Given the description of an element on the screen output the (x, y) to click on. 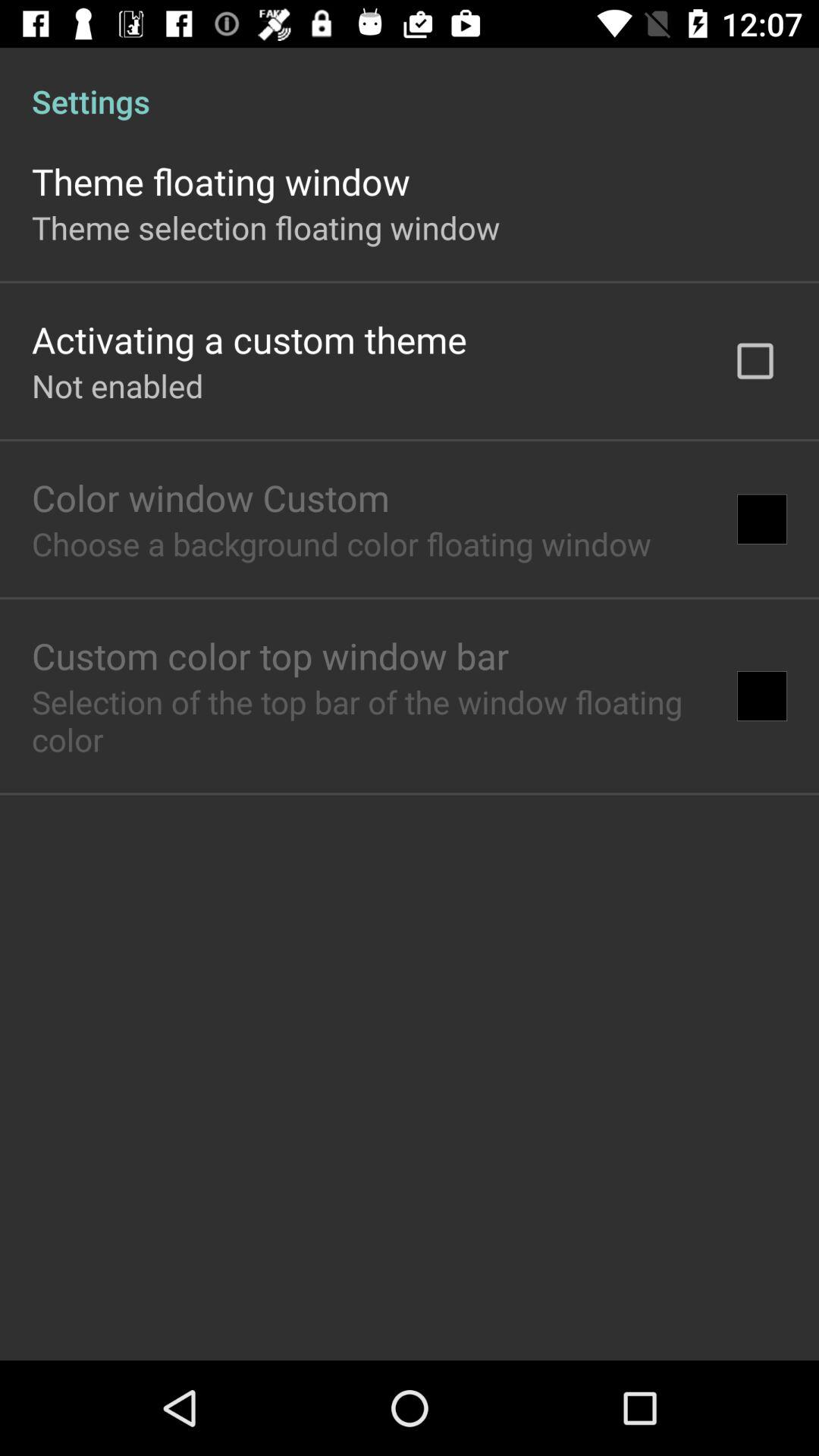
select item next to selection of the app (762, 696)
